Given the description of an element on the screen output the (x, y) to click on. 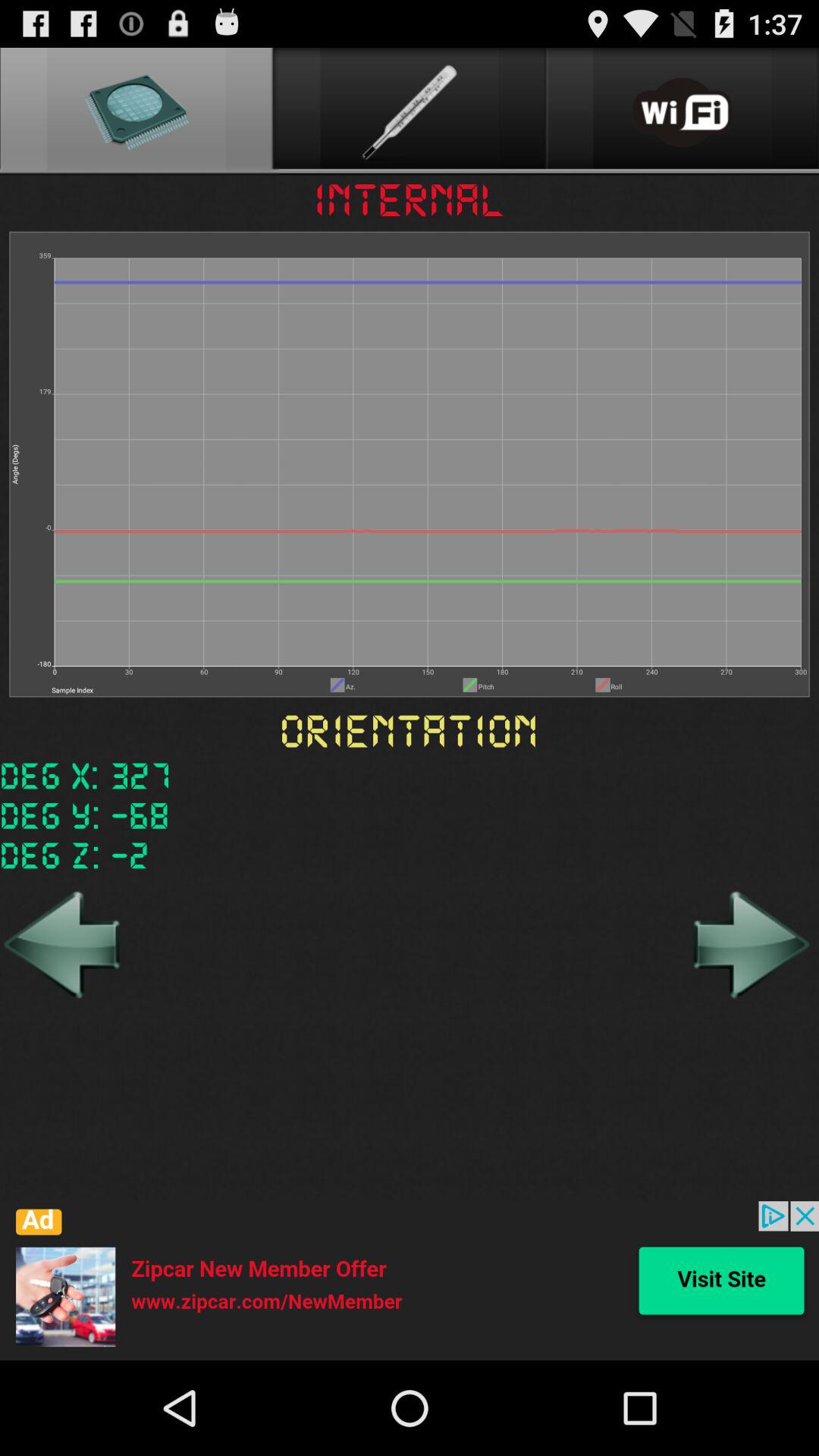
advertisement (409, 1280)
